Given the description of an element on the screen output the (x, y) to click on. 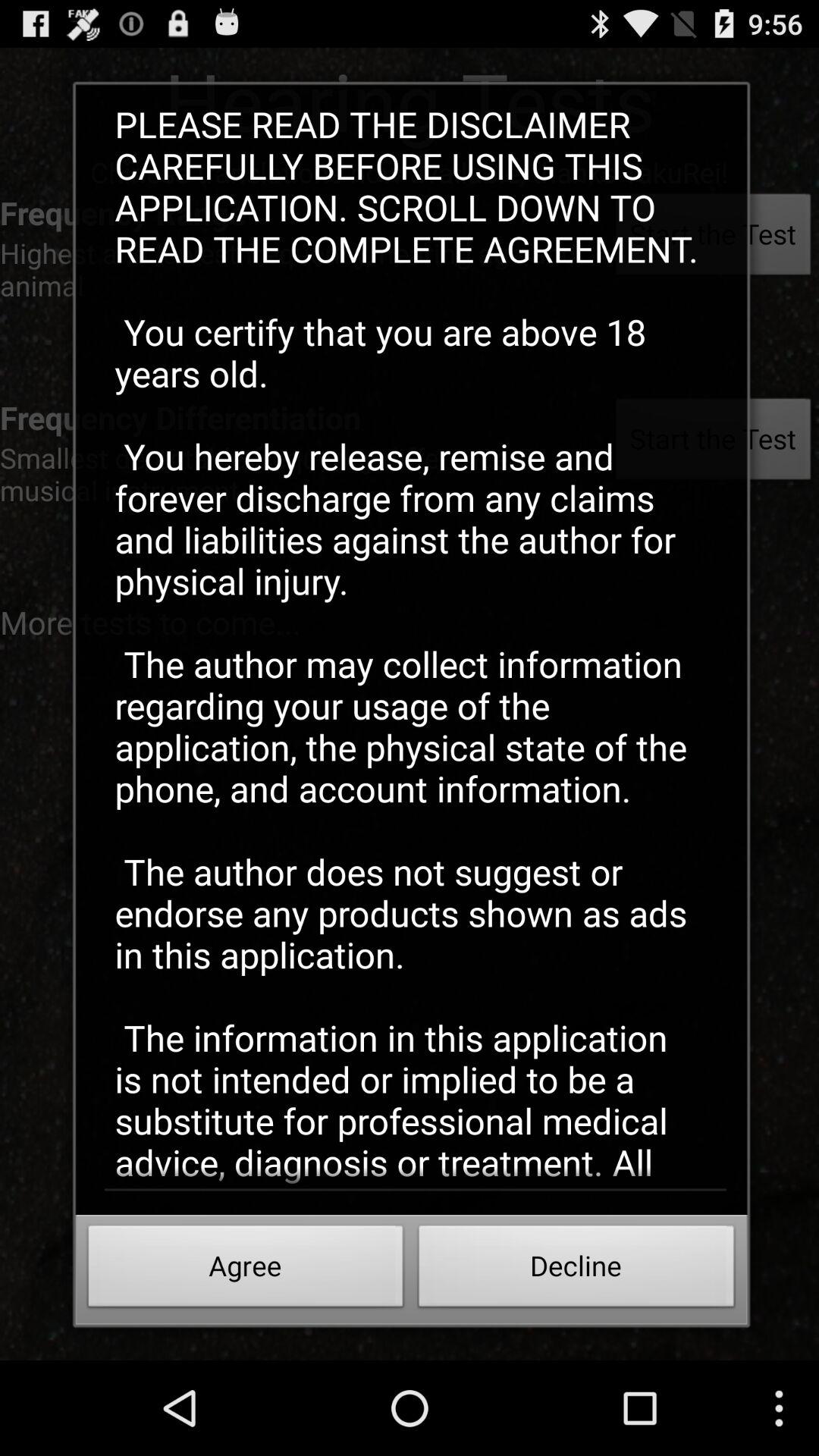
open the icon to the left of the decline (245, 1270)
